Given the description of an element on the screen output the (x, y) to click on. 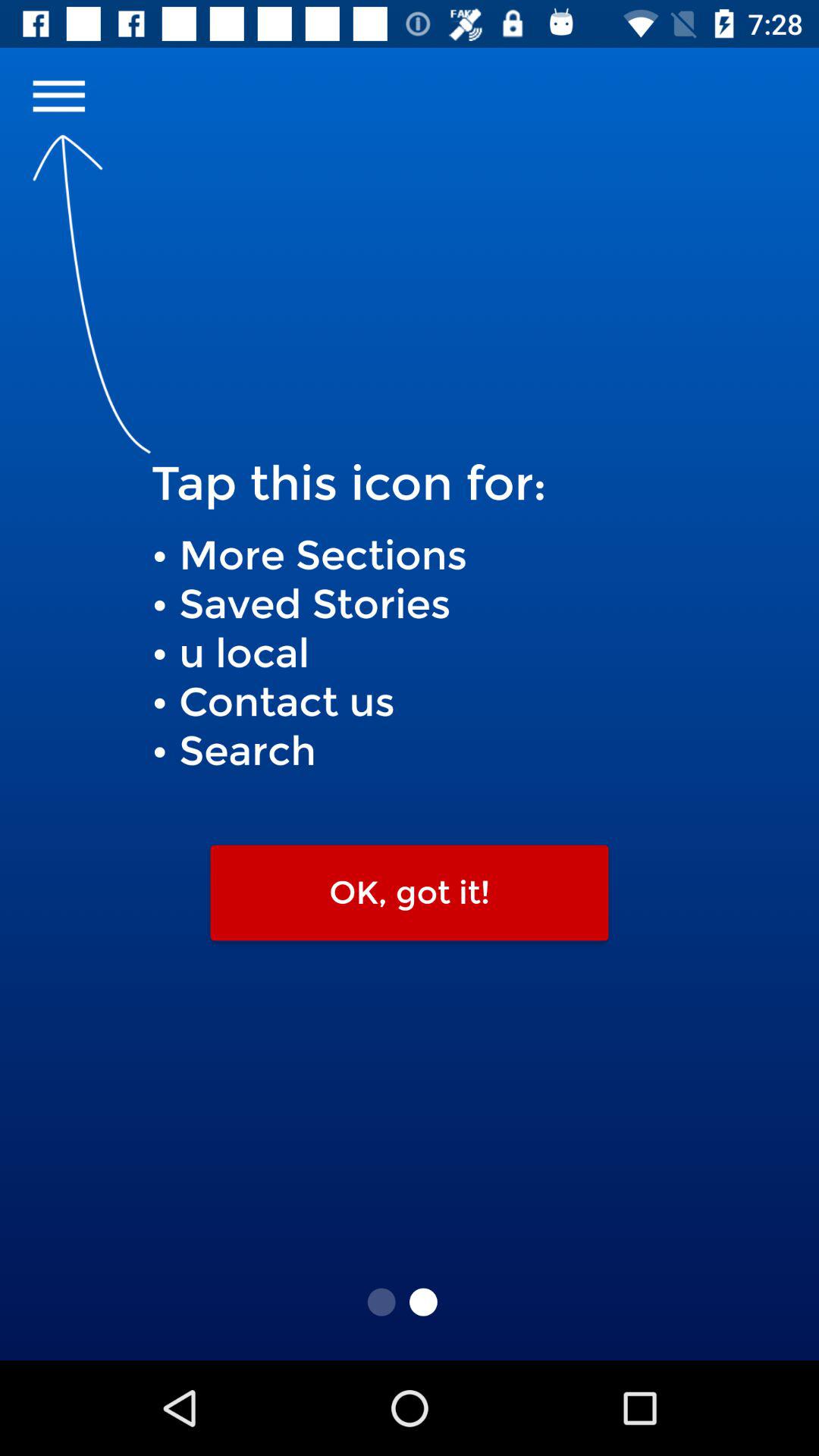
press item below more sections saved item (409, 892)
